Given the description of an element on the screen output the (x, y) to click on. 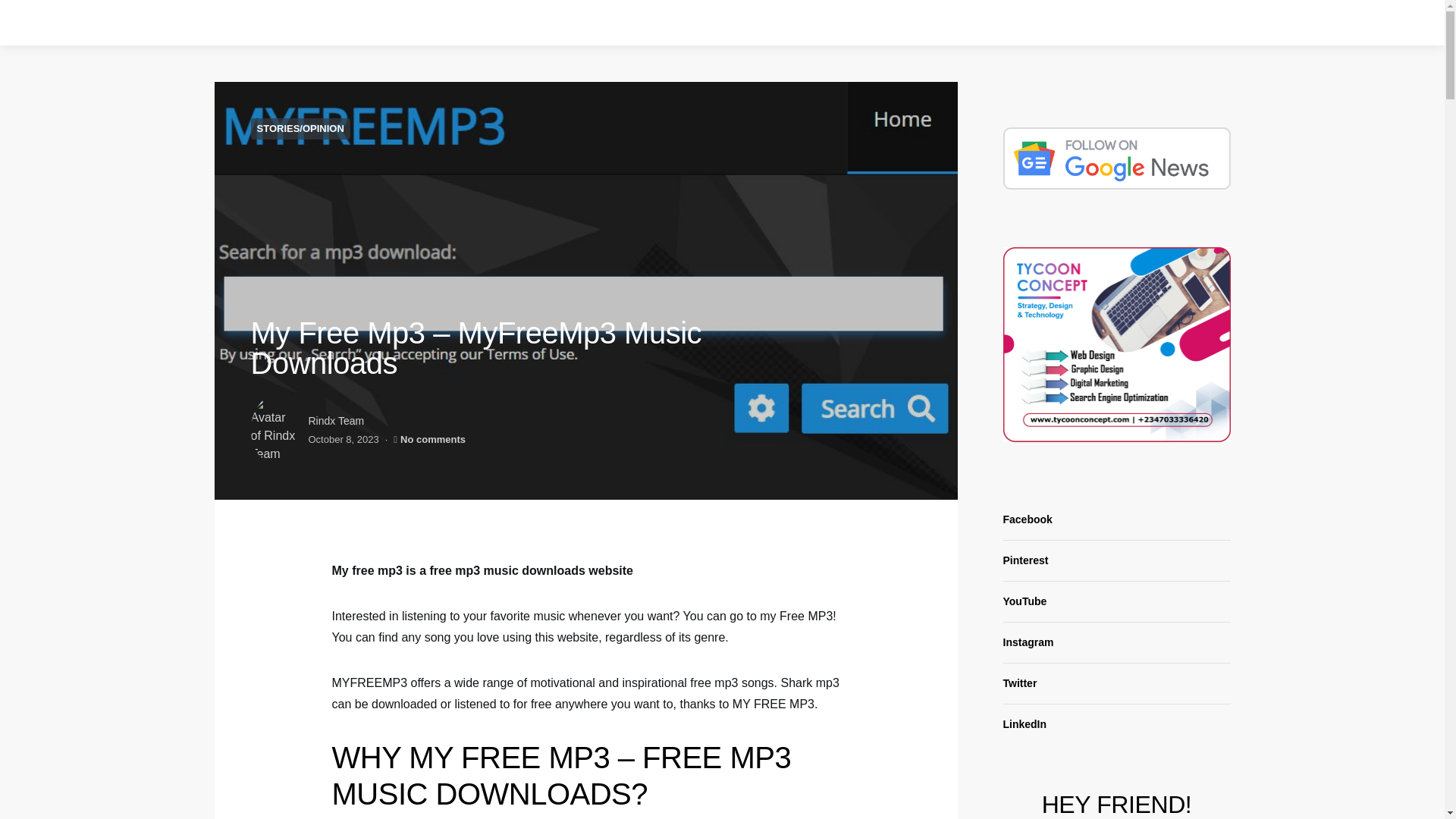
TECHNOLOGY (966, 22)
FINANCE (817, 22)
LIFESTYLE (1045, 22)
MARKETING (885, 22)
CONTACT (1162, 22)
BUSINESS (750, 22)
MORE (1105, 22)
